Given the description of an element on the screen output the (x, y) to click on. 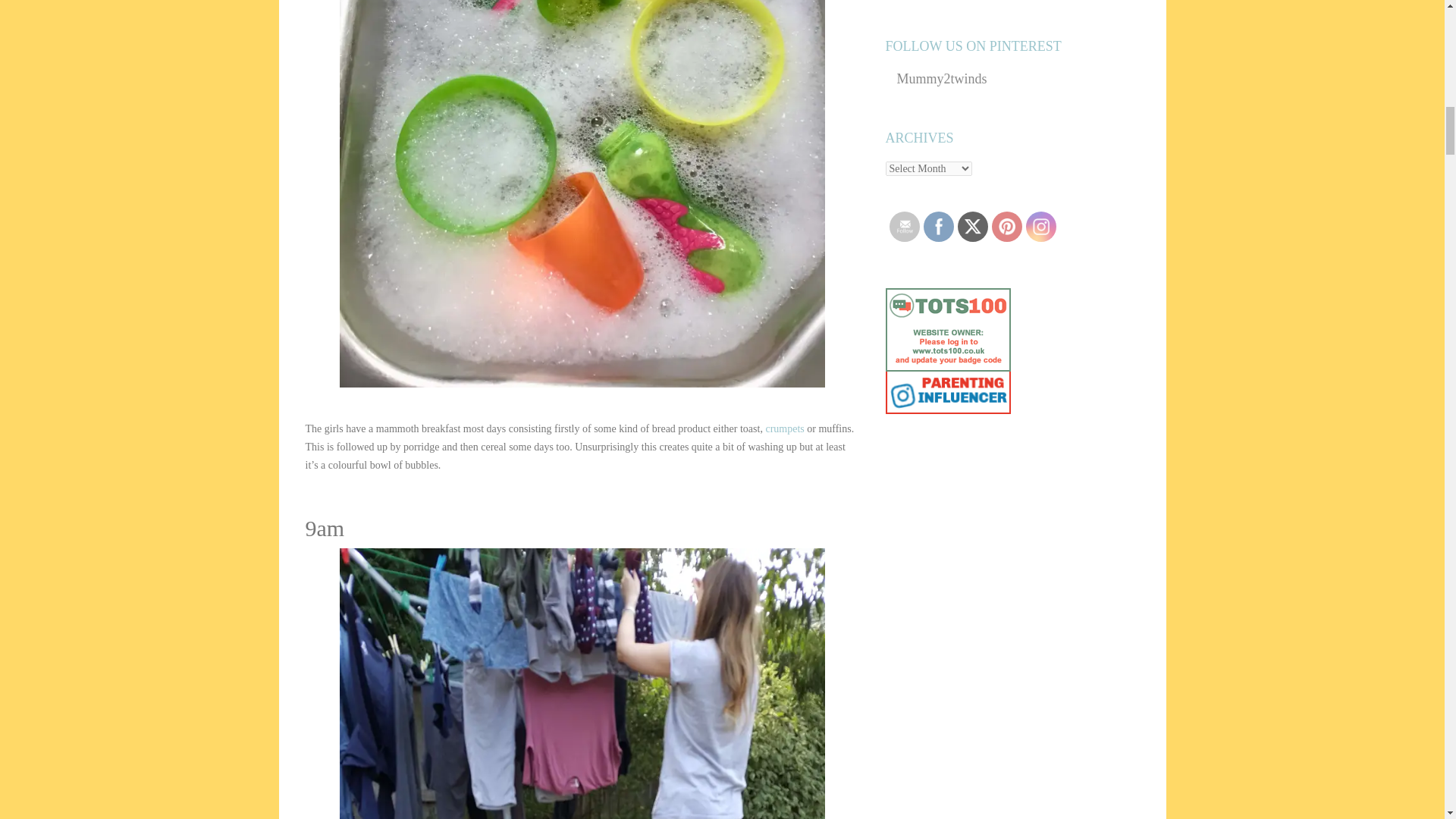
Tweet (972, 226)
crumpets (784, 428)
Share (938, 226)
